Given the description of an element on the screen output the (x, y) to click on. 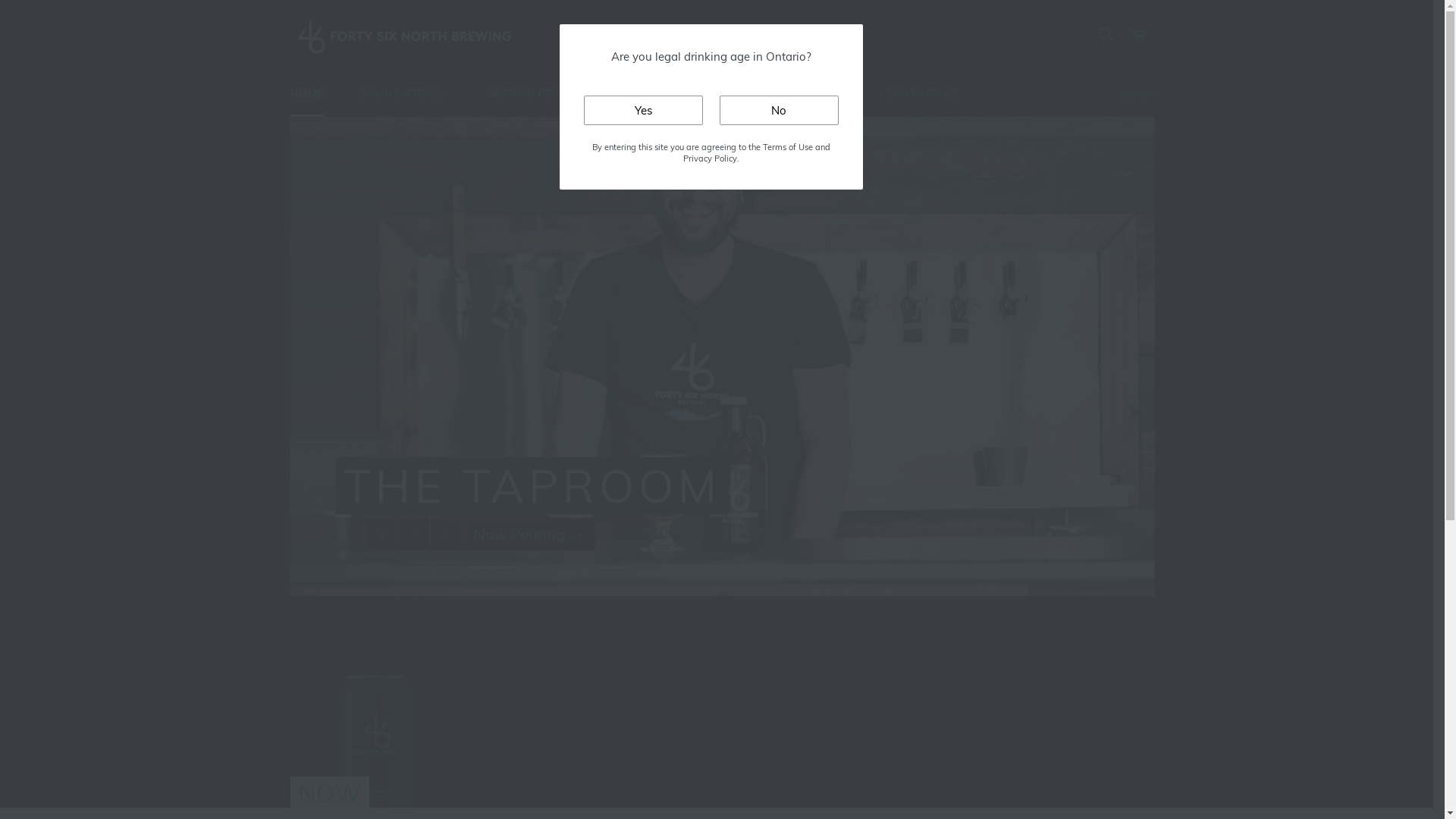
No Element type: text (777, 110)
Account Element type: text (1134, 94)
Yes Element type: text (642, 110)
CONTACT US Element type: text (921, 94)
ONLINE STORE Element type: text (404, 94)
Previous slide Element type: text (413, 534)
TASTING ROOM Element type: text (534, 94)
PRIVATE BOOKINGS Element type: text (673, 94)
Search Element type: text (1105, 34)
Next slide Element type: text (445, 534)
Cart Element type: text (1138, 35)
HOME Element type: text (306, 94)
Pause slideshow Element type: text (382, 534)
FIND OUR BEER Element type: text (806, 94)
